Given the description of an element on the screen output the (x, y) to click on. 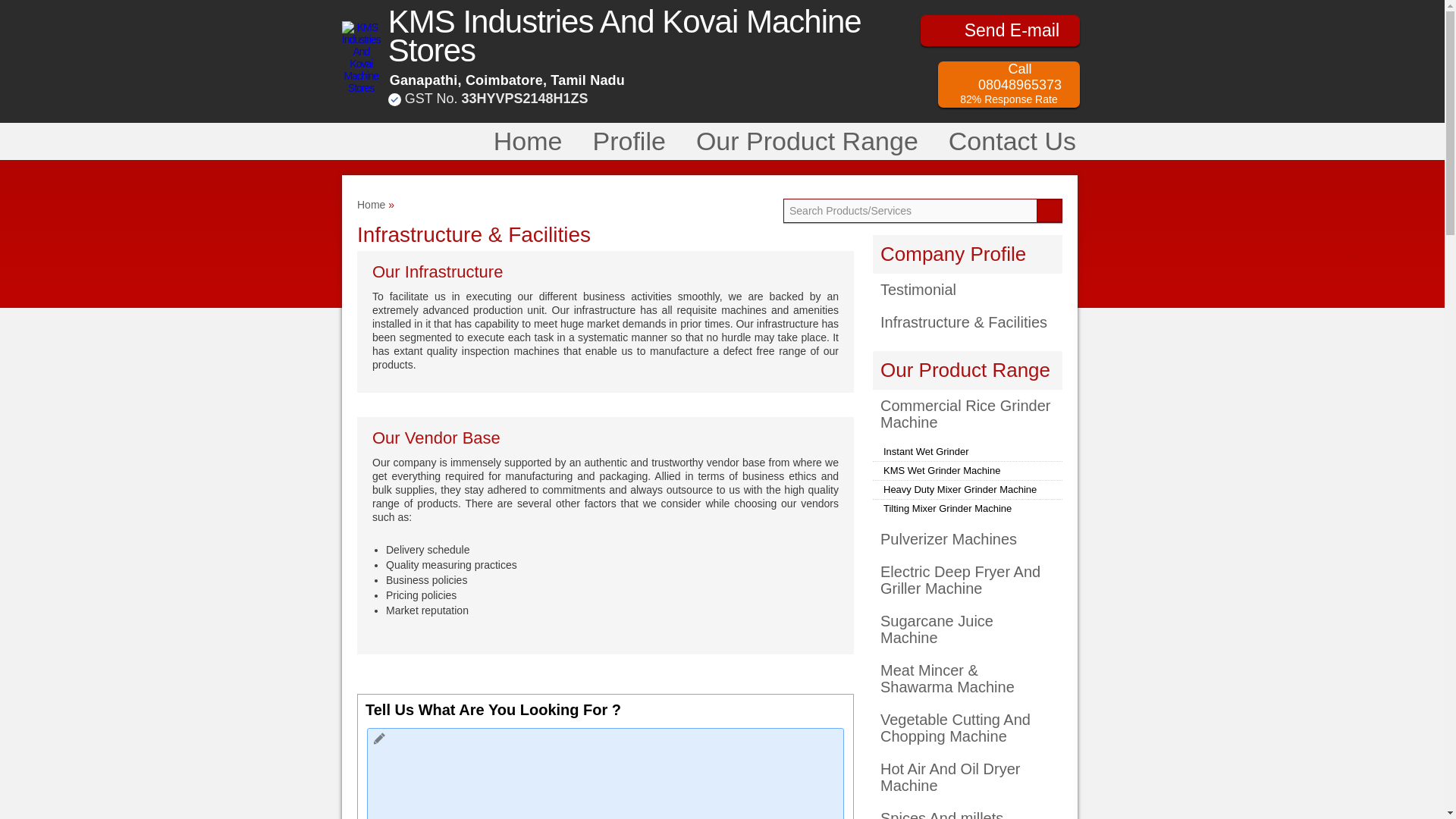
Pulverizer Machines (967, 539)
Instant Wet Grinder (925, 451)
Home (527, 140)
Testimonial (967, 289)
Heavy Duty Mixer Grinder Machine (959, 489)
Our Product Range (964, 369)
Contact Us (1012, 140)
Our Product Range (807, 140)
Profile (628, 140)
Electric Deep Fryer And Griller Machine (967, 580)
